Given the description of an element on the screen output the (x, y) to click on. 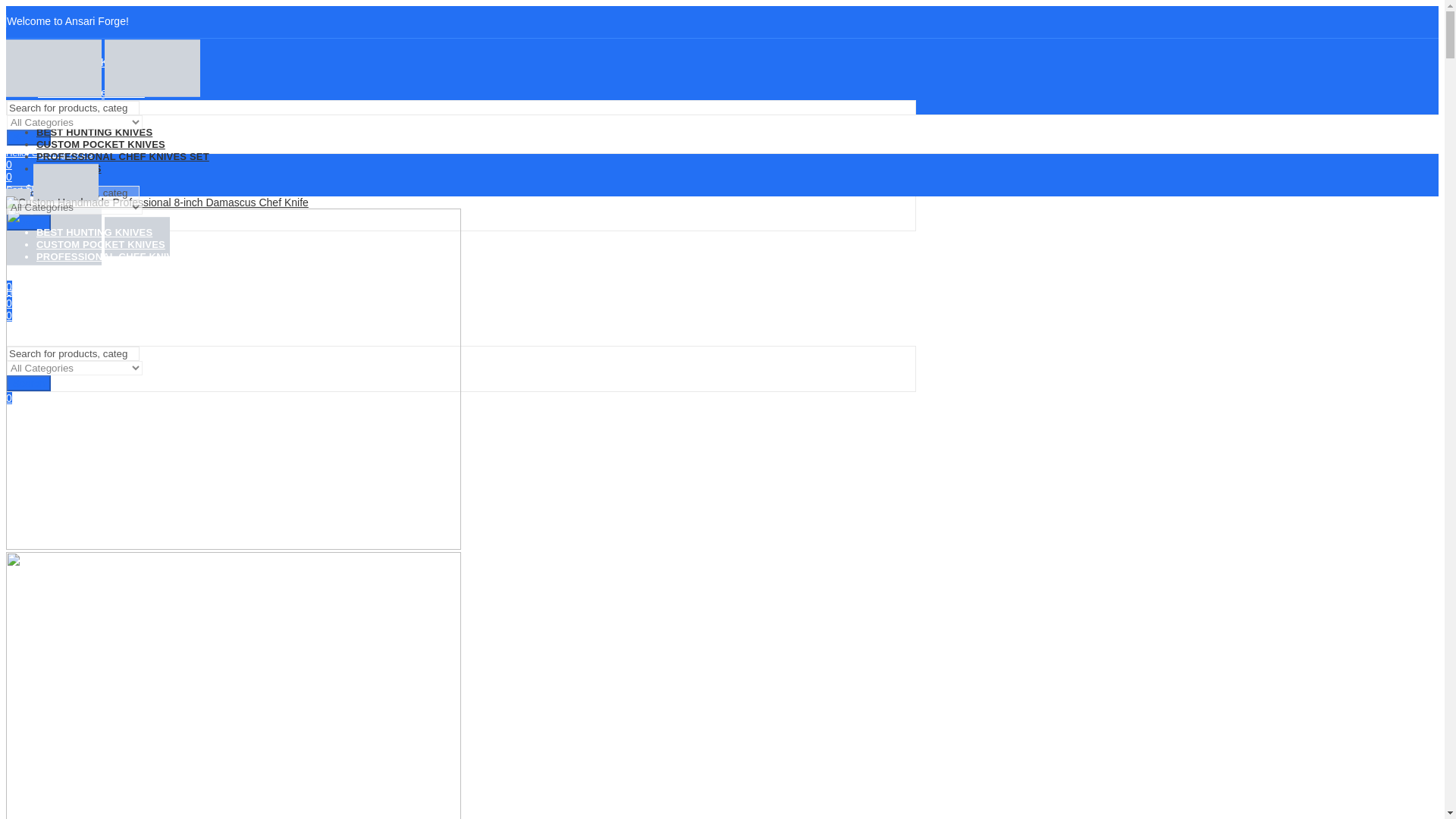
Best Hunting Knives (84, 61)
Professional Chef Knives Set (105, 122)
PROFESSIONAL CHEF KNIVES SET (122, 256)
Menu (18, 339)
Hello, Sign In (460, 291)
Search (28, 222)
VIKING AXES (68, 268)
0 (8, 286)
Custom Pocket Knives (90, 92)
CUSTOM POCKET KNIVES (100, 244)
Hello, Sign In (460, 152)
PROFESSIONAL CHEF KNIVES SET (122, 156)
Search (28, 137)
VIKING AXES (68, 168)
BEST HUNTING KNIVES (94, 132)
